Given the description of an element on the screen output the (x, y) to click on. 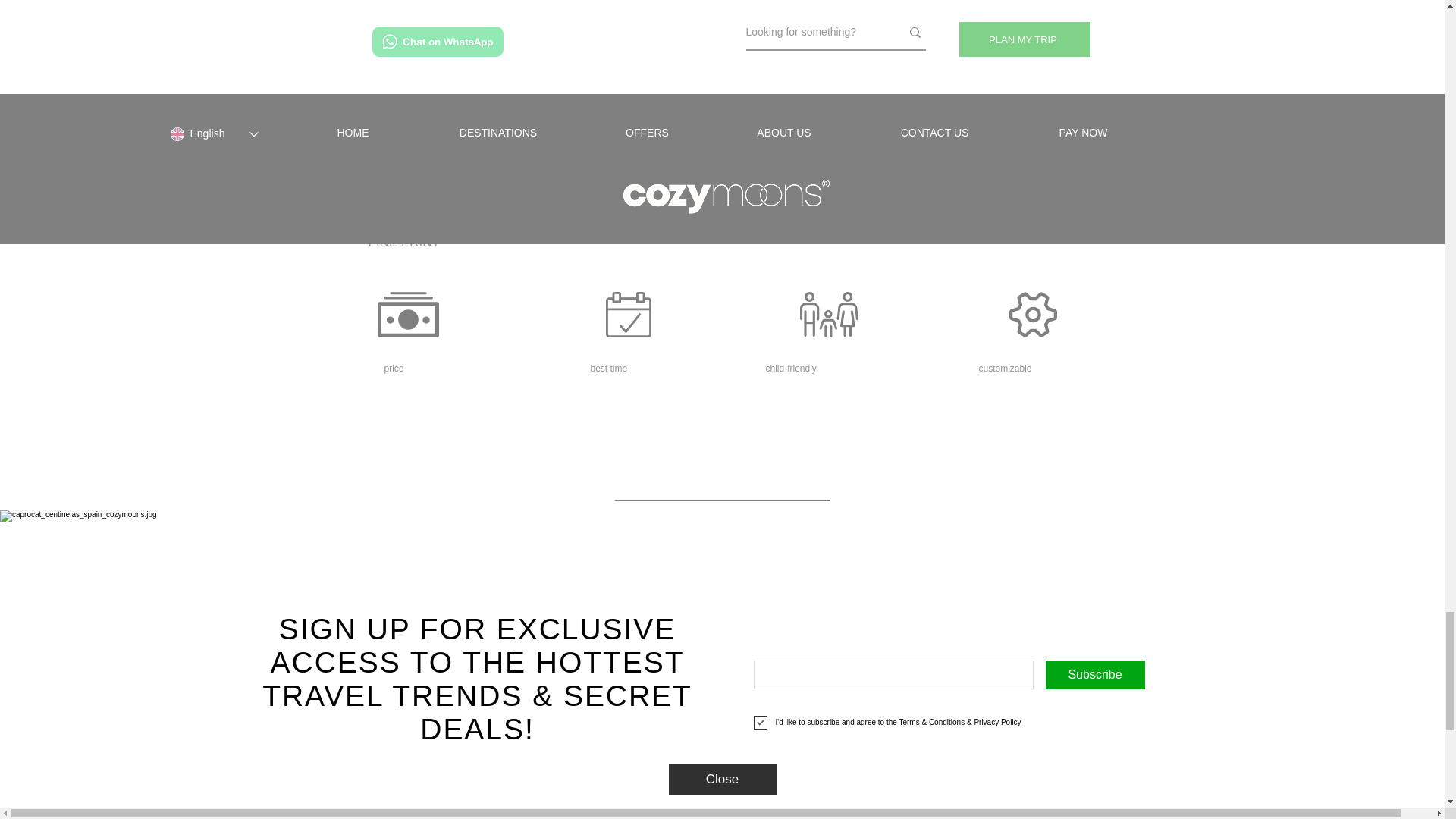
WHATSAPP US (722, 137)
